Given the description of an element on the screen output the (x, y) to click on. 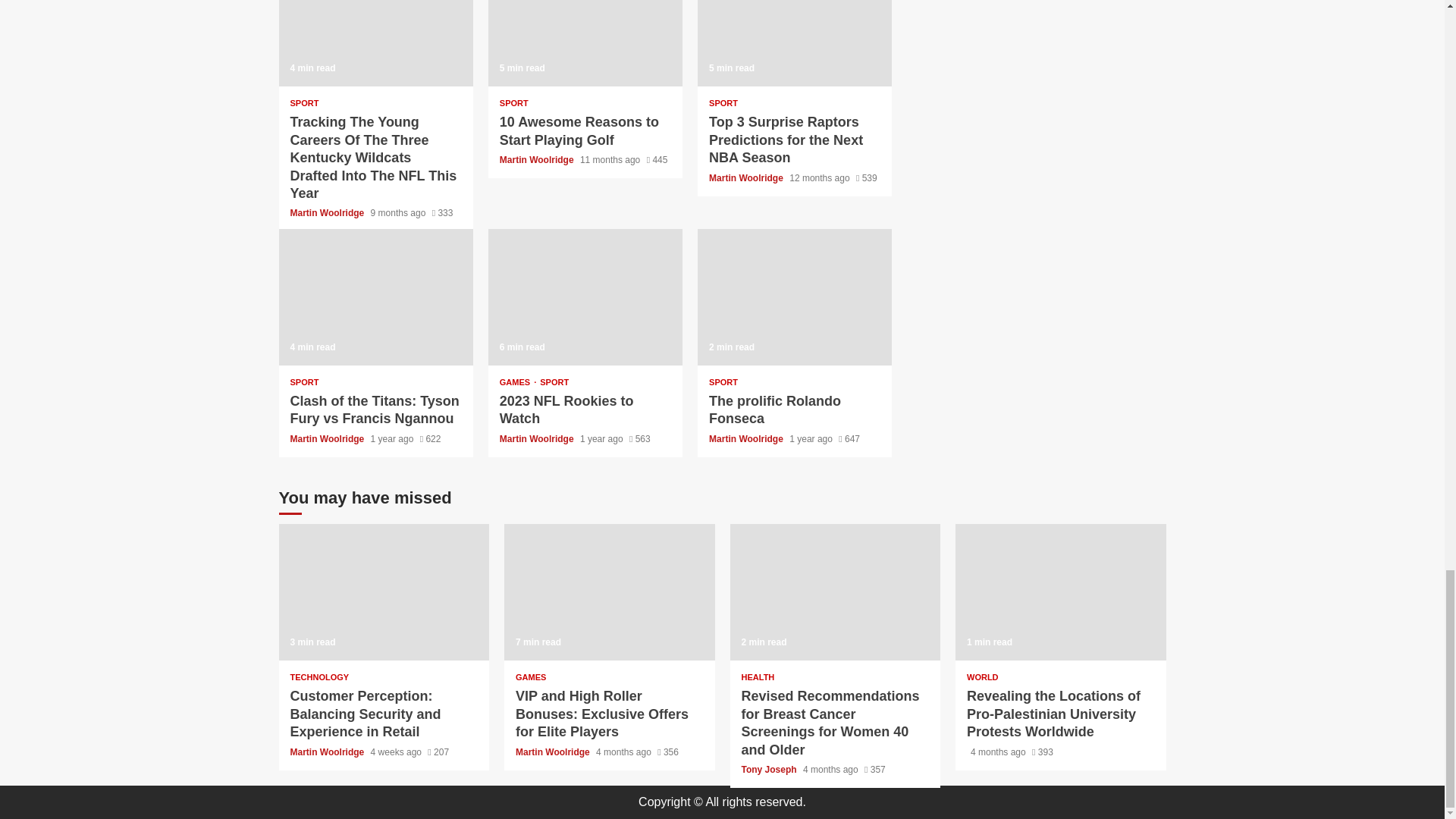
Martin Woolridge (537, 159)
Top 3 Surprise Raptors Predictions for the Next NBA Season (786, 139)
SPORT (303, 103)
10 Awesome Reasons to Start Playing Golf (579, 130)
10 Awesome Reasons to Start Playing Golf (584, 43)
Martin Woolridge (327, 213)
SPORT (723, 103)
333 (442, 213)
